Given the description of an element on the screen output the (x, y) to click on. 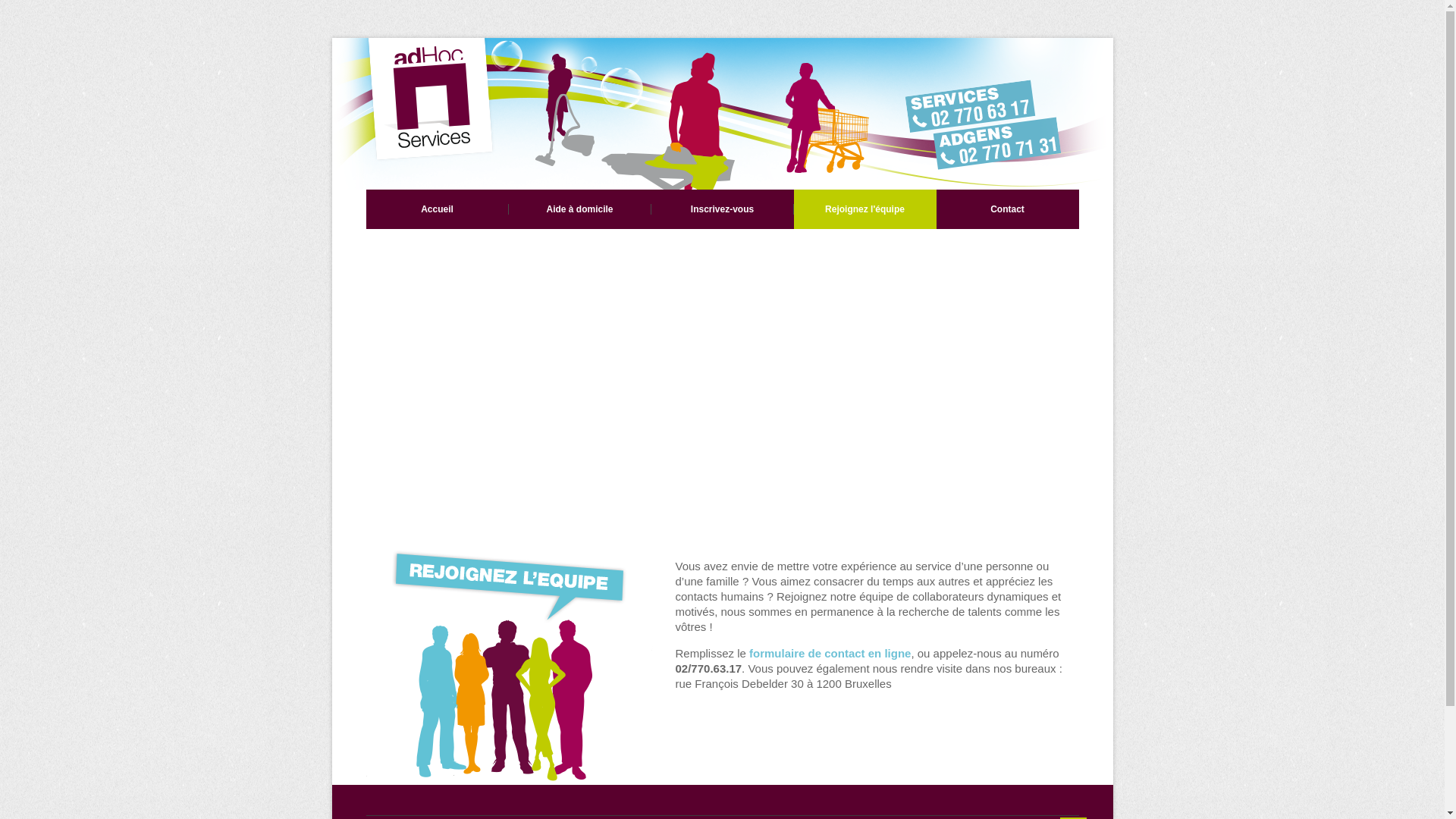
Inscrivez-vous Element type: text (721, 209)
formulaire de contact en ligne Element type: text (829, 652)
Contact Element type: text (1006, 209)
Accueil Element type: text (436, 209)
